Given the description of an element on the screen output the (x, y) to click on. 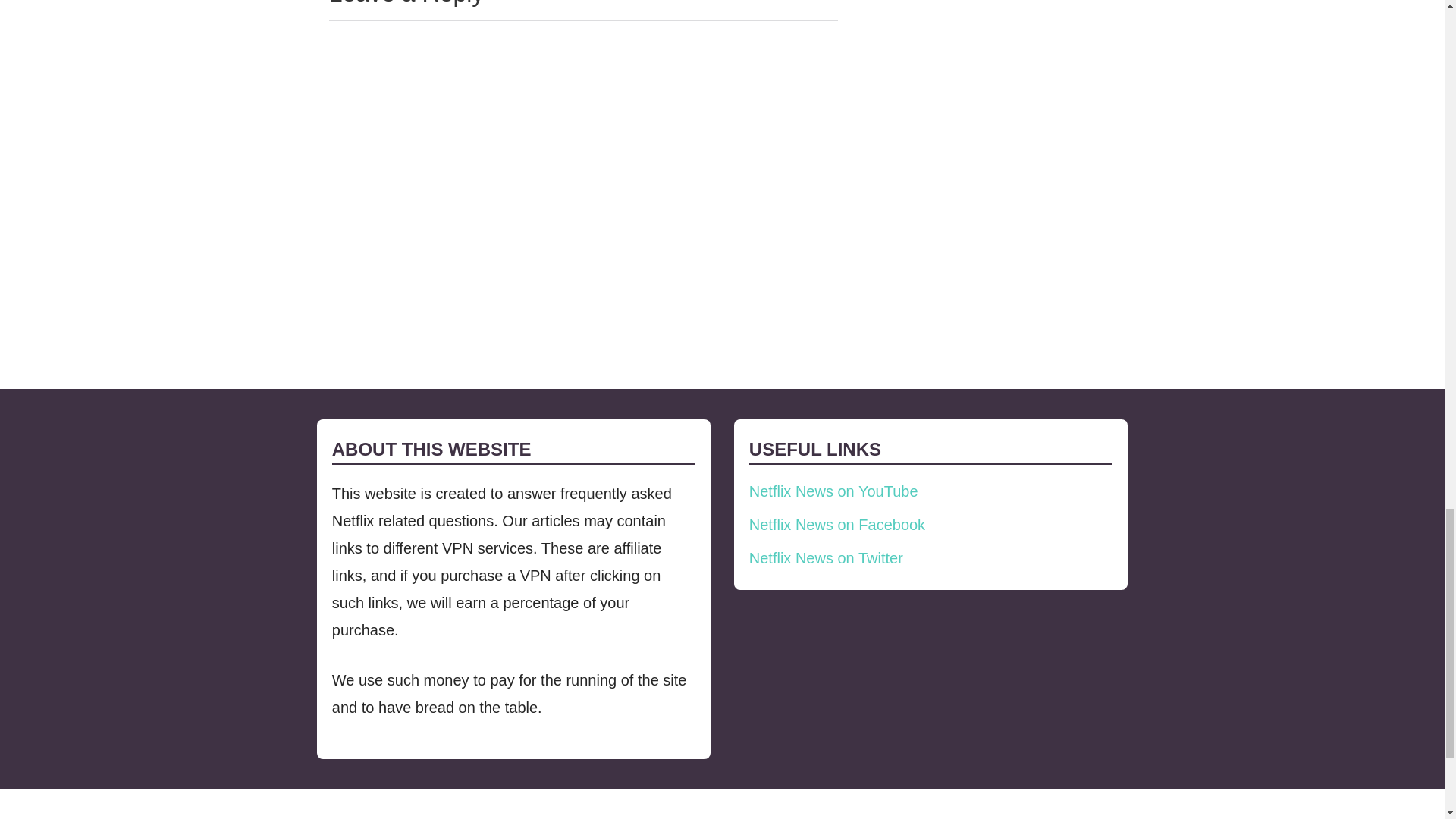
Netflix News on Twitter (825, 557)
Netflix News on YouTube (833, 491)
Netflix News on Facebook (836, 524)
